Given the description of an element on the screen output the (x, y) to click on. 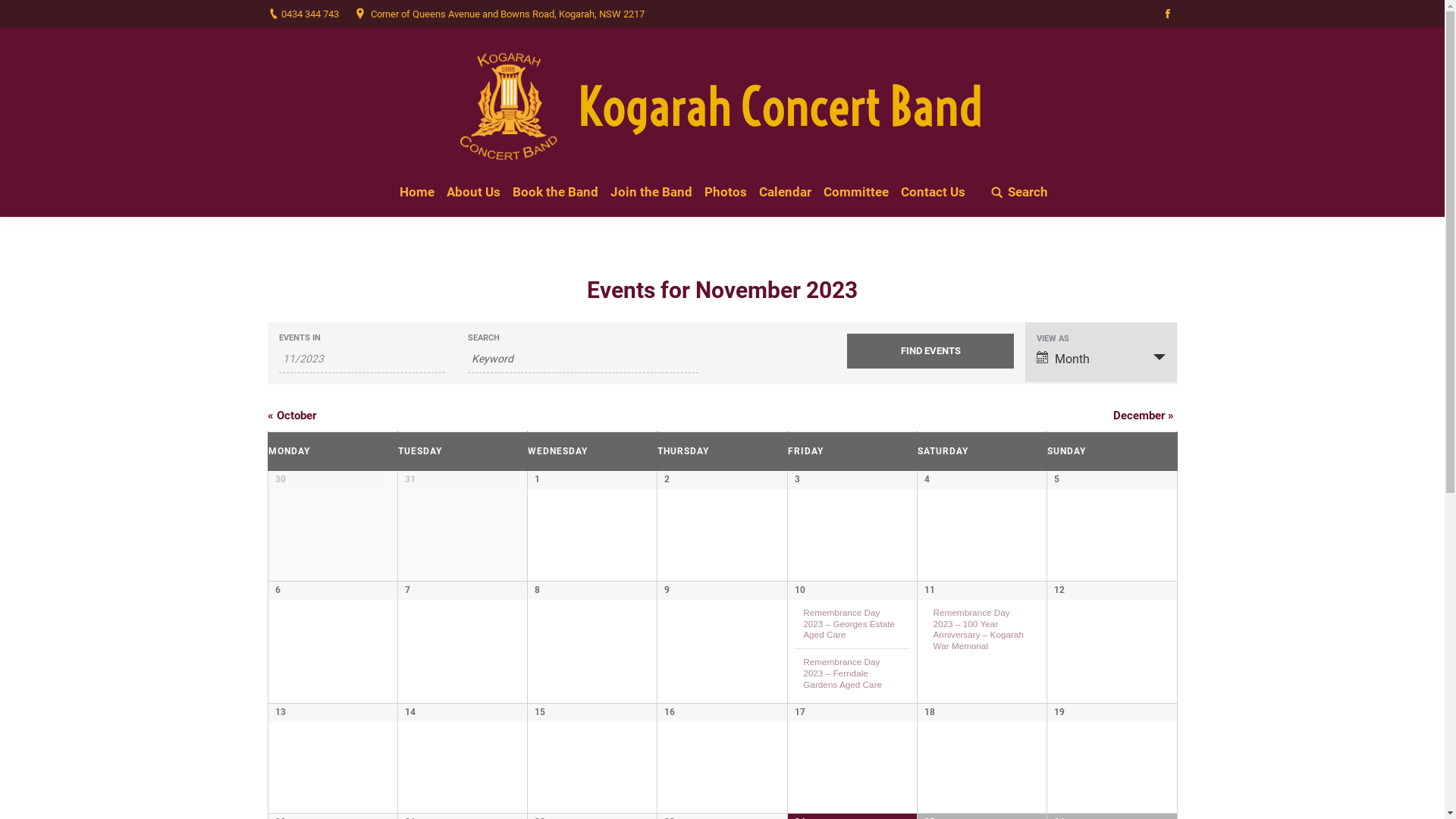
Join the Band Element type: text (651, 192)
Photos Element type: text (725, 192)
Search Element type: text (1019, 191)
Facebook Element type: text (1166, 13)
Find Events Element type: text (930, 350)
Calendar Element type: text (785, 192)
Home Element type: text (416, 192)
Book the Band Element type: text (555, 192)
Committee Element type: text (855, 192)
Contact Us Element type: text (932, 192)
About Us Element type: text (473, 192)
Corner of Queens Avenue and Bowns Road, Kogarah, NSW 2217 Element type: text (506, 12)
Go! Element type: text (21, 14)
Month Element type: text (1100, 358)
